Given the description of an element on the screen output the (x, y) to click on. 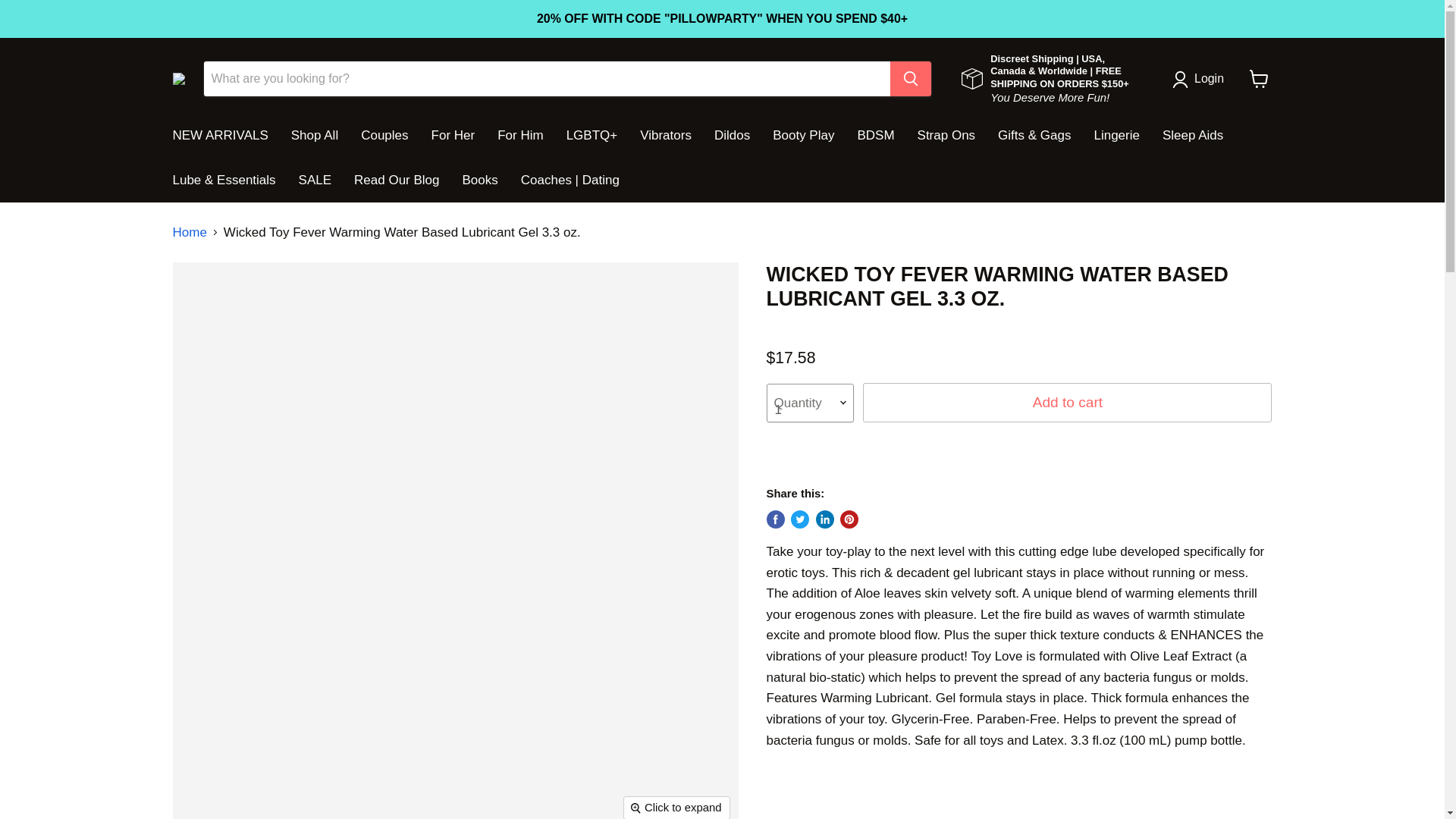
For Him (520, 134)
Shop All (314, 134)
SALE (314, 179)
Vibrators (665, 134)
NEW ARRIVALS (219, 134)
Sleep Aids (1192, 134)
BDSM (875, 134)
Lingerie (1116, 134)
Read Our Blog (395, 179)
Books (480, 179)
For Her (453, 134)
Dildos (732, 134)
Booty Play (803, 134)
Strap Ons (946, 134)
View cart (1258, 78)
